Given the description of an element on the screen output the (x, y) to click on. 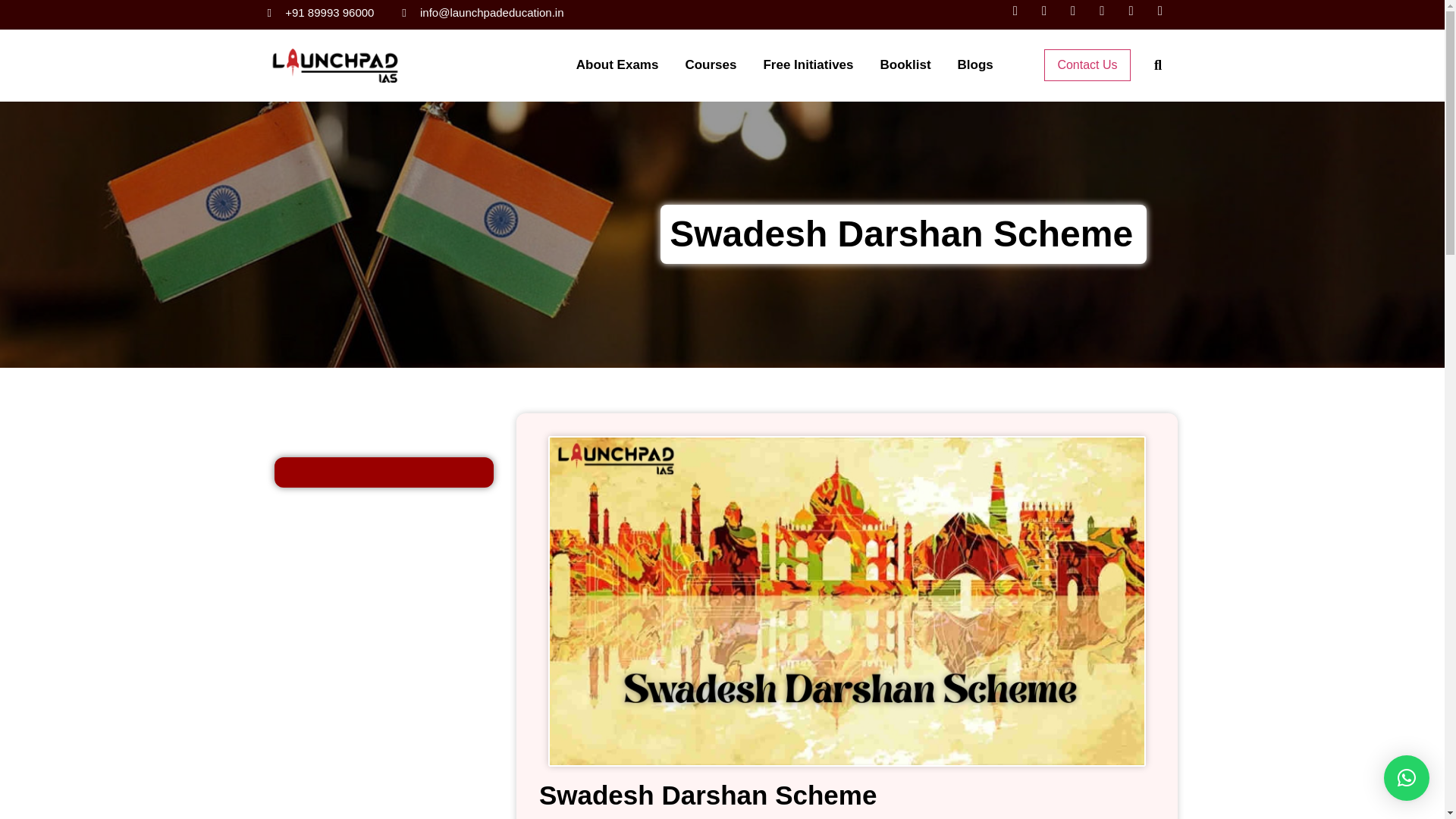
Blogs (975, 64)
Booklist (905, 64)
Free Initiatives (807, 64)
About Exams (617, 64)
Courses (710, 64)
